Given the description of an element on the screen output the (x, y) to click on. 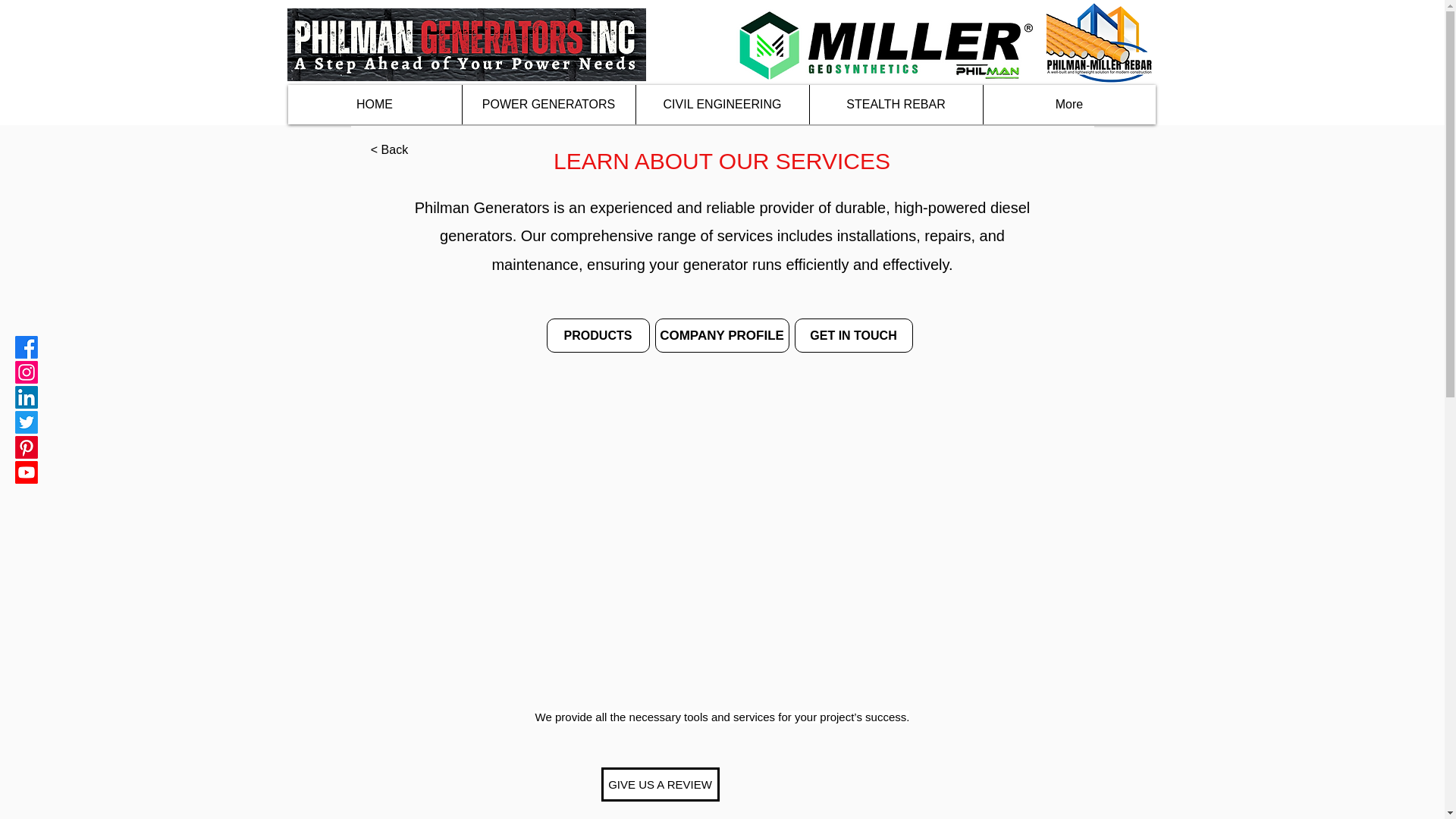
COMPANY PROFILE (722, 335)
HOME (374, 104)
POWER GENERATORS (547, 104)
PRODUCTS (597, 335)
STEALTH REBAR (894, 104)
CIVIL ENGINEERING (721, 104)
GIVE US A REVIEW (659, 784)
GET IN TOUCH (853, 335)
